Given the description of an element on the screen output the (x, y) to click on. 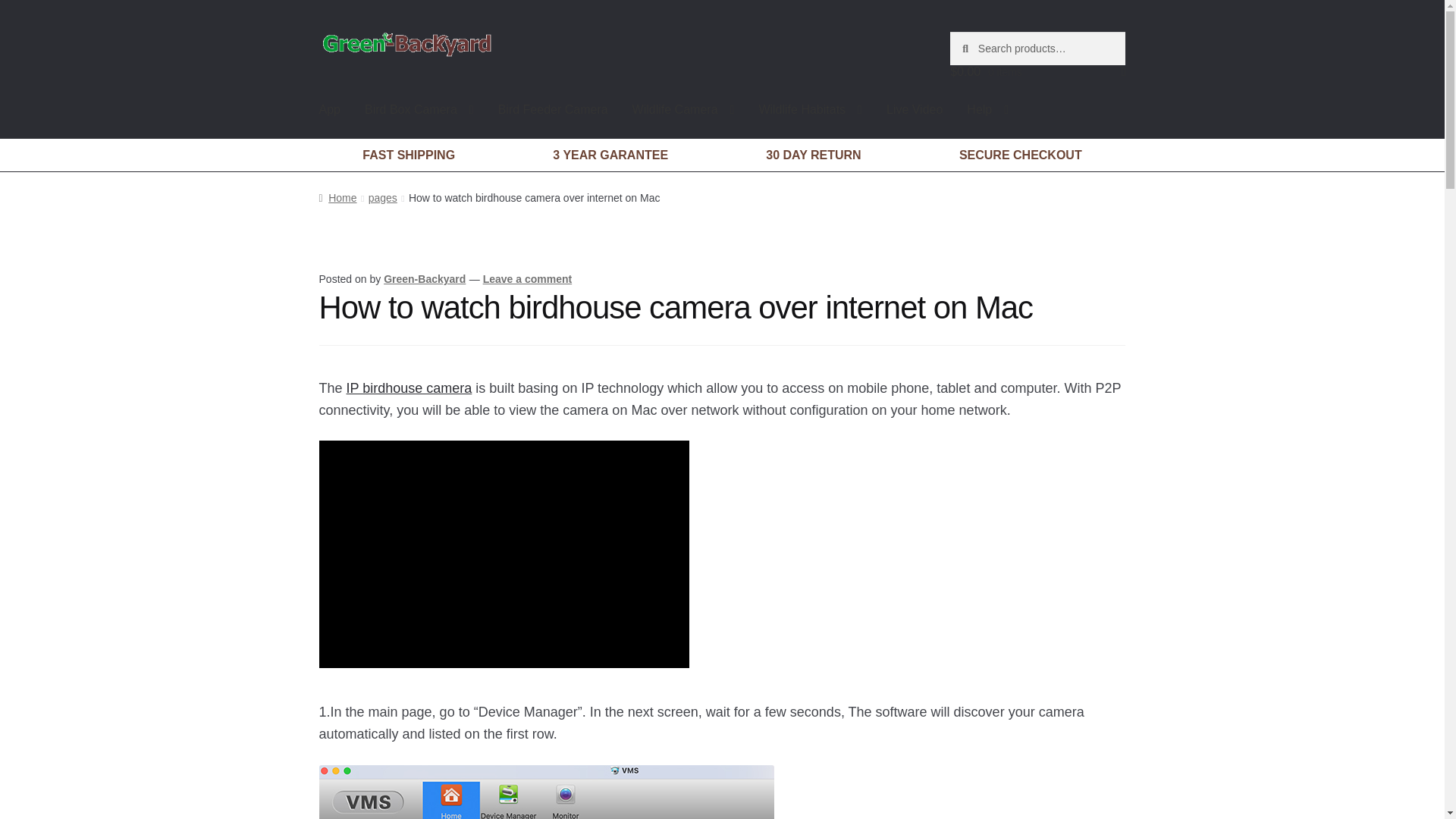
Wildlife Camera (683, 109)
Bird Box Camera (419, 109)
Wildlife Habitats (810, 109)
Help (987, 109)
Bird Feeder Camera (553, 109)
View your shopping cart (1037, 71)
Live Video (915, 109)
